Given the description of an element on the screen output the (x, y) to click on. 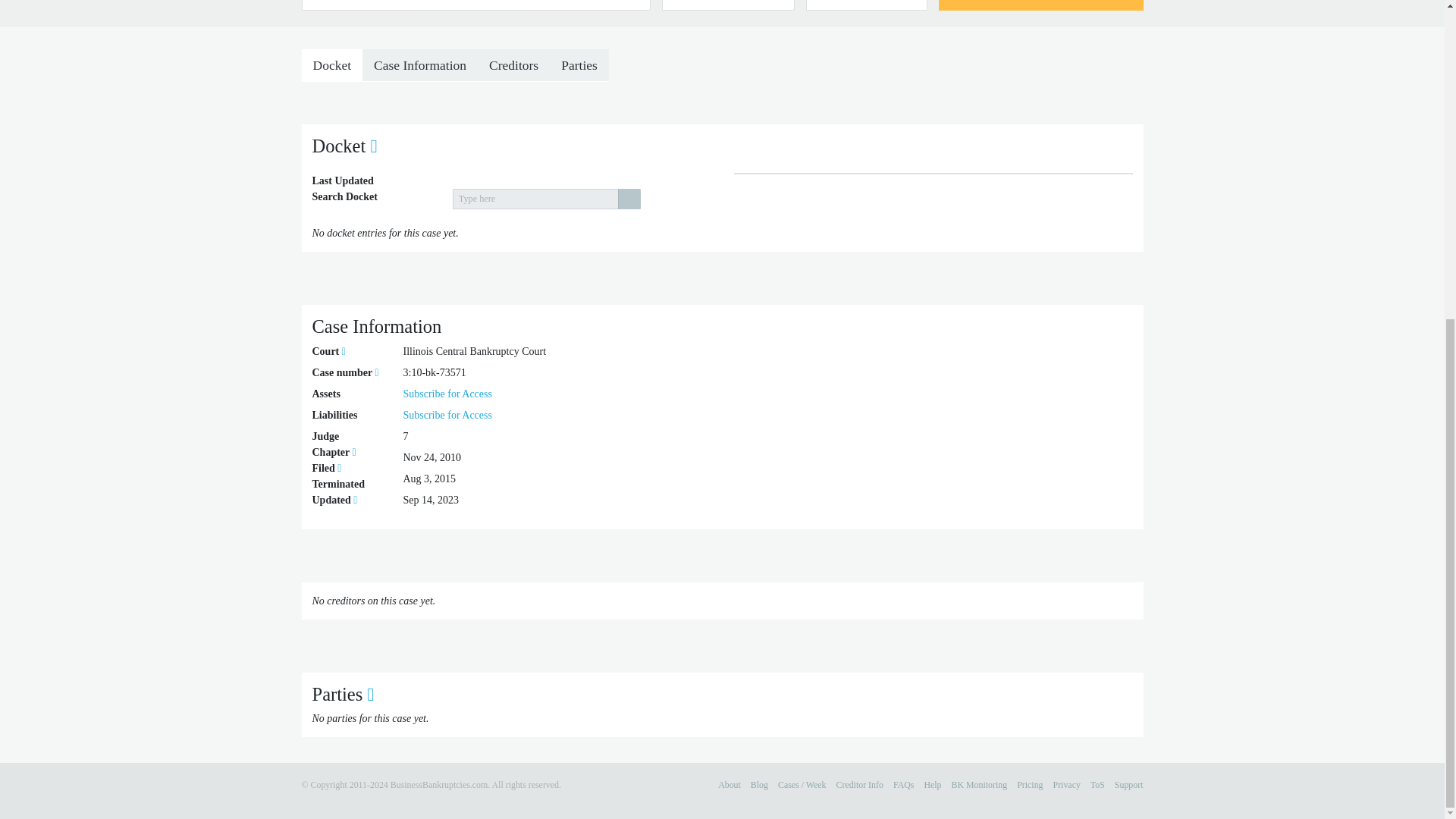
Docket (331, 65)
Creditor Info (858, 784)
Help (931, 784)
Subscribe for Access (447, 393)
Case Information (419, 65)
FAQs (903, 784)
Blog (759, 784)
Creditors (513, 65)
Parties (579, 65)
Privacy (1066, 784)
Subscribe for Access (447, 414)
BK Monitoring (979, 784)
Pricing (1029, 784)
About (729, 784)
